Given the description of an element on the screen output the (x, y) to click on. 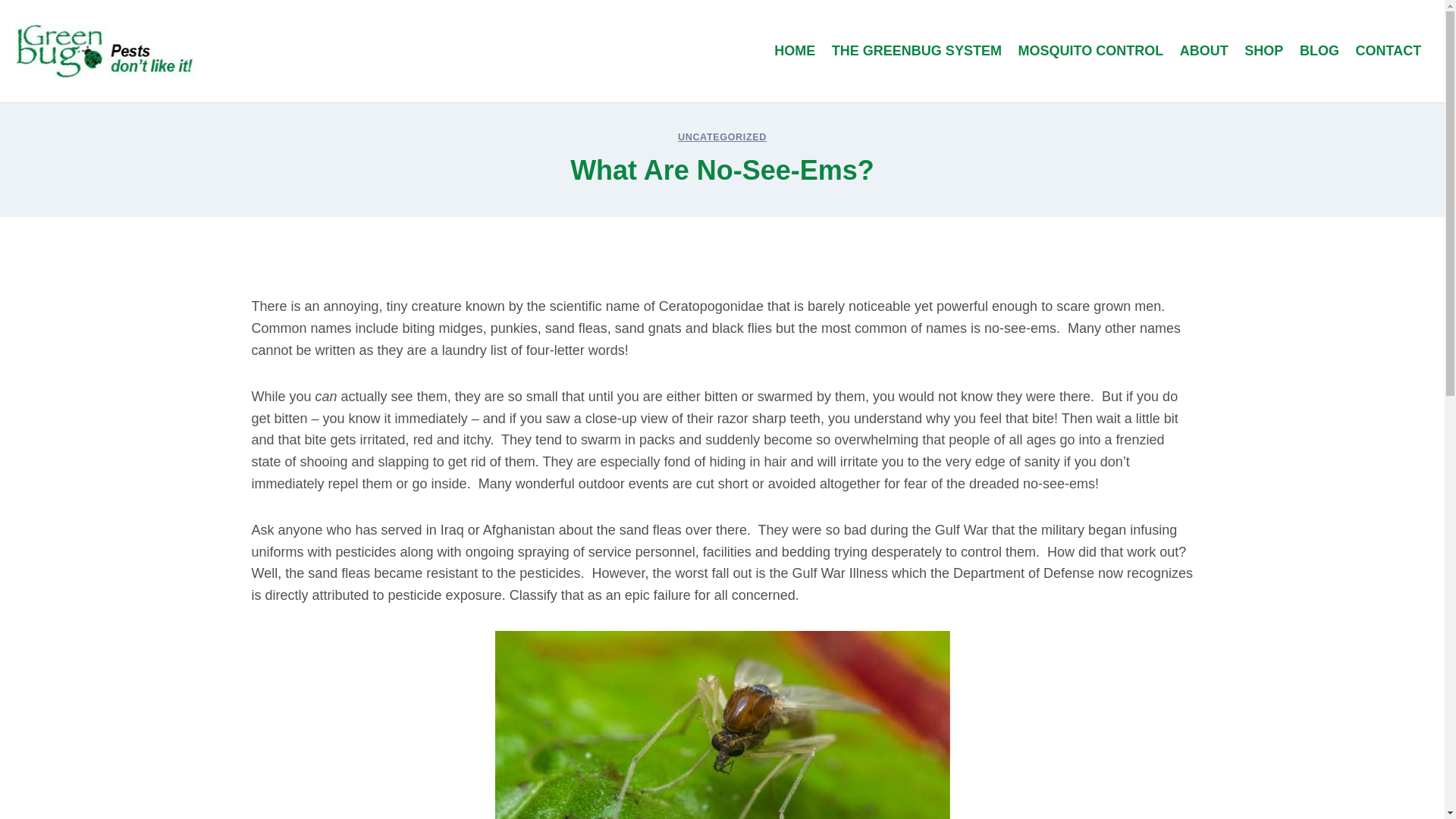
MOSQUITO CONTROL (1091, 51)
HOME (794, 51)
ABOUT (1204, 51)
SHOP (1264, 51)
THE GREENBUG SYSTEM (917, 51)
CONTACT (1388, 51)
BLOG (1319, 51)
UNCATEGORIZED (722, 136)
